Given the description of an element on the screen output the (x, y) to click on. 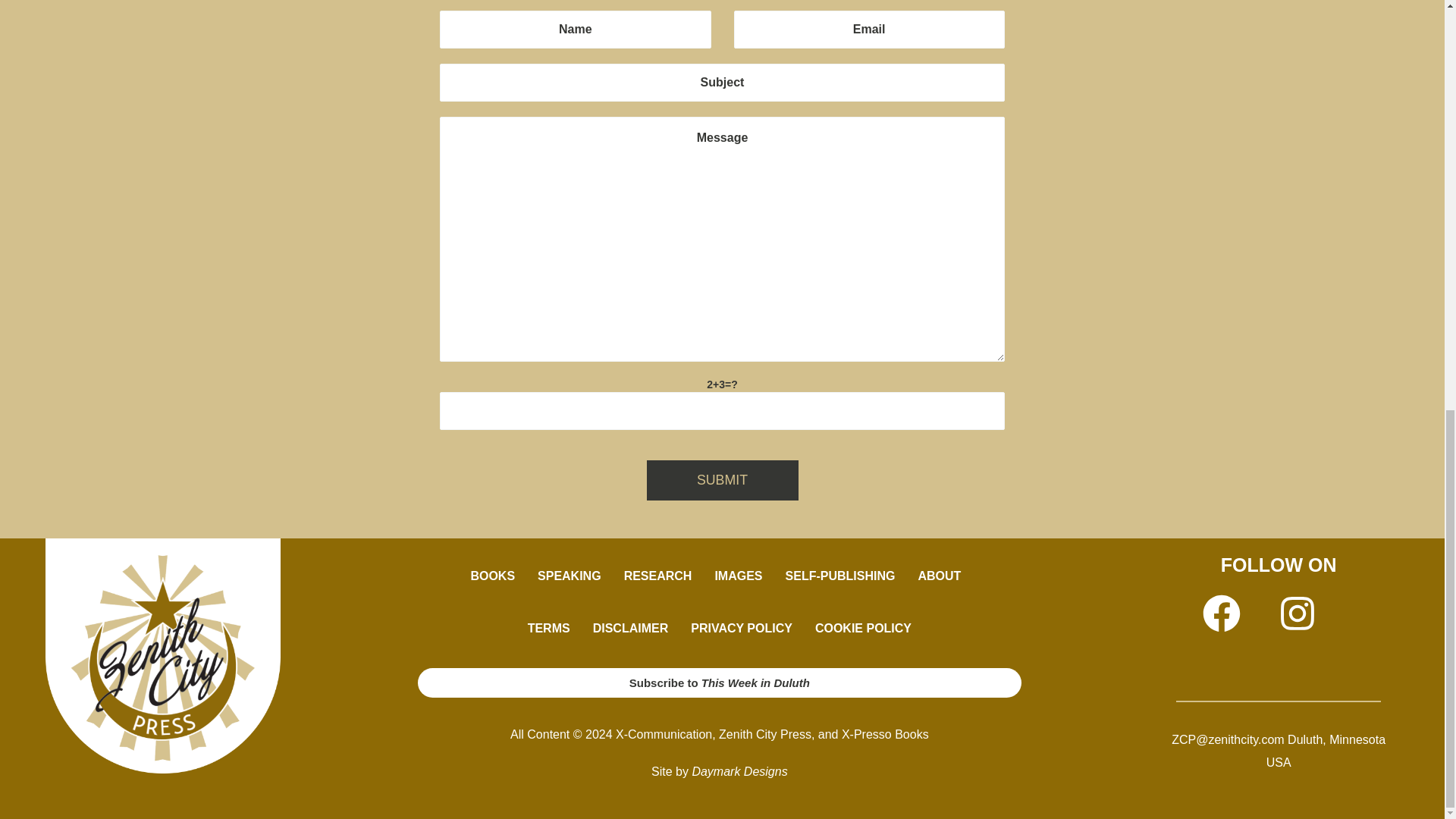
TERMS (548, 628)
RESEARCH (657, 575)
PRIVACY POLICY (741, 628)
SPEAKING (568, 575)
IMAGES (738, 575)
SELF-PUBLISHING (840, 575)
Submit (721, 480)
BOOKS (491, 575)
COOKIE POLICY (863, 628)
